Given the description of an element on the screen output the (x, y) to click on. 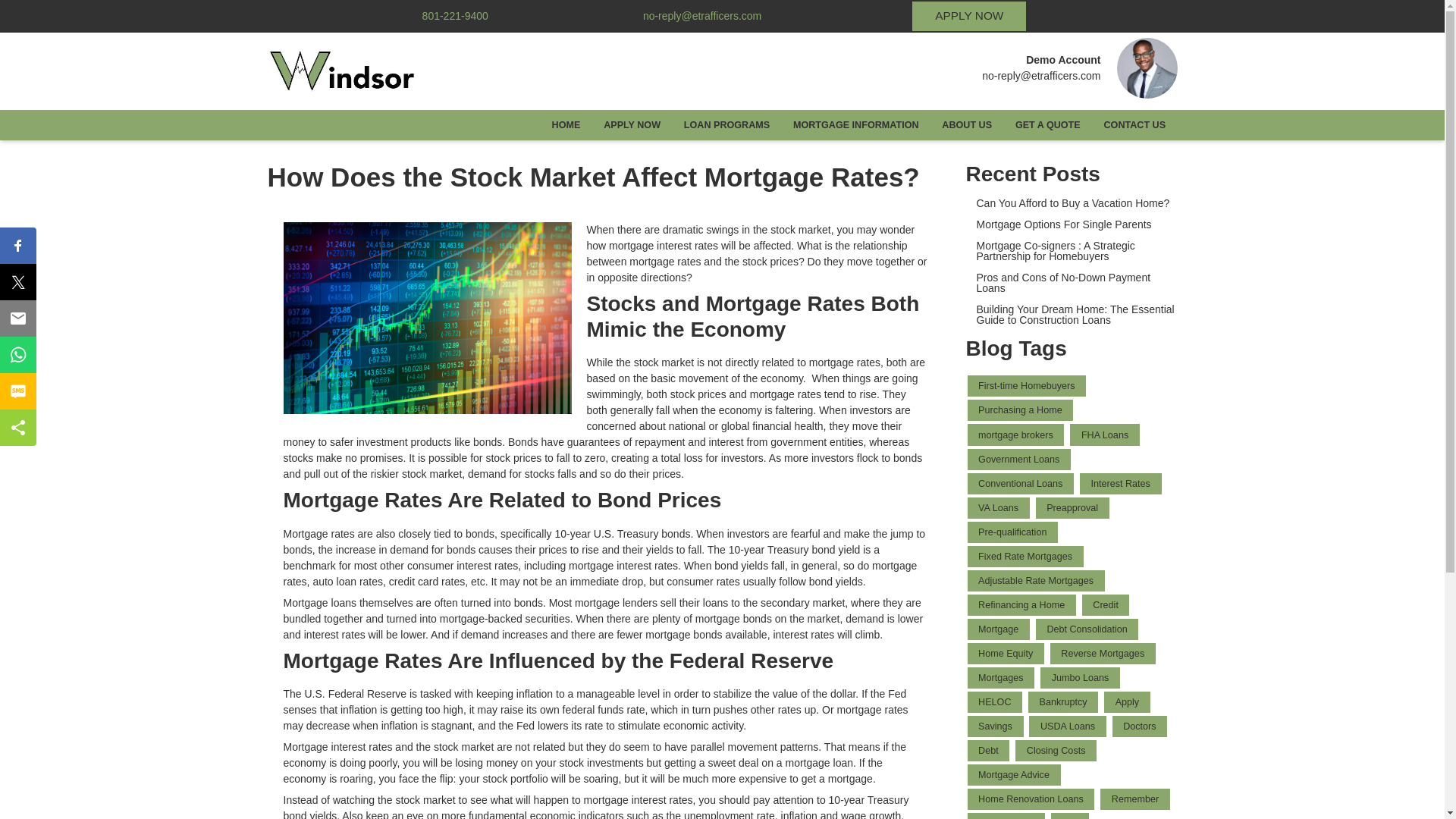
APPLY NOW (632, 124)
ABOUT US (967, 124)
Mortgage Options For Single Parents (1071, 224)
801-221-9400 (451, 15)
Can You Afford to Buy a Vacation Home? (1071, 203)
CONTACT US (1134, 124)
LOAN PROGRAMS (725, 124)
HOME (566, 124)
GET A QUOTE (1047, 124)
APPLY NOW (969, 16)
MORTGAGE INFORMATION (855, 124)
